Given the description of an element on the screen output the (x, y) to click on. 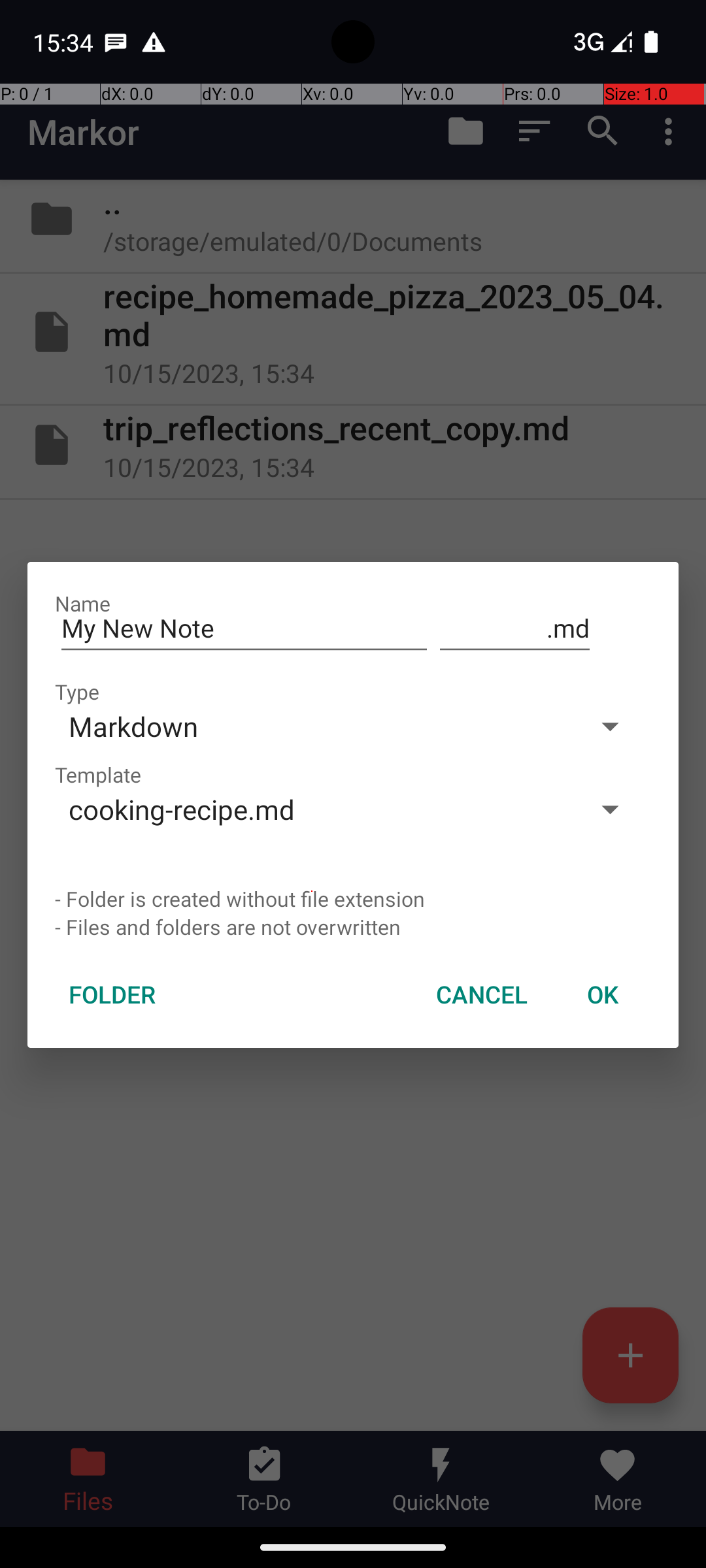
My New Note Element type: android.widget.EditText (243, 628)
.md Element type: android.widget.EditText (514, 628)
Type Element type: android.widget.TextView (76, 691)
Template Element type: android.widget.TextView (97, 774)
- Folder is created without file extension Element type: android.widget.TextView (352, 898)
- Files and folders are not overwritten Element type: android.widget.TextView (352, 926)
FOLDER Element type: android.widget.Button (111, 993)
Markdown Element type: android.widget.TextView (311, 725)
cooking-recipe.md Element type: android.widget.TextView (311, 808)
